Given the description of an element on the screen output the (x, y) to click on. 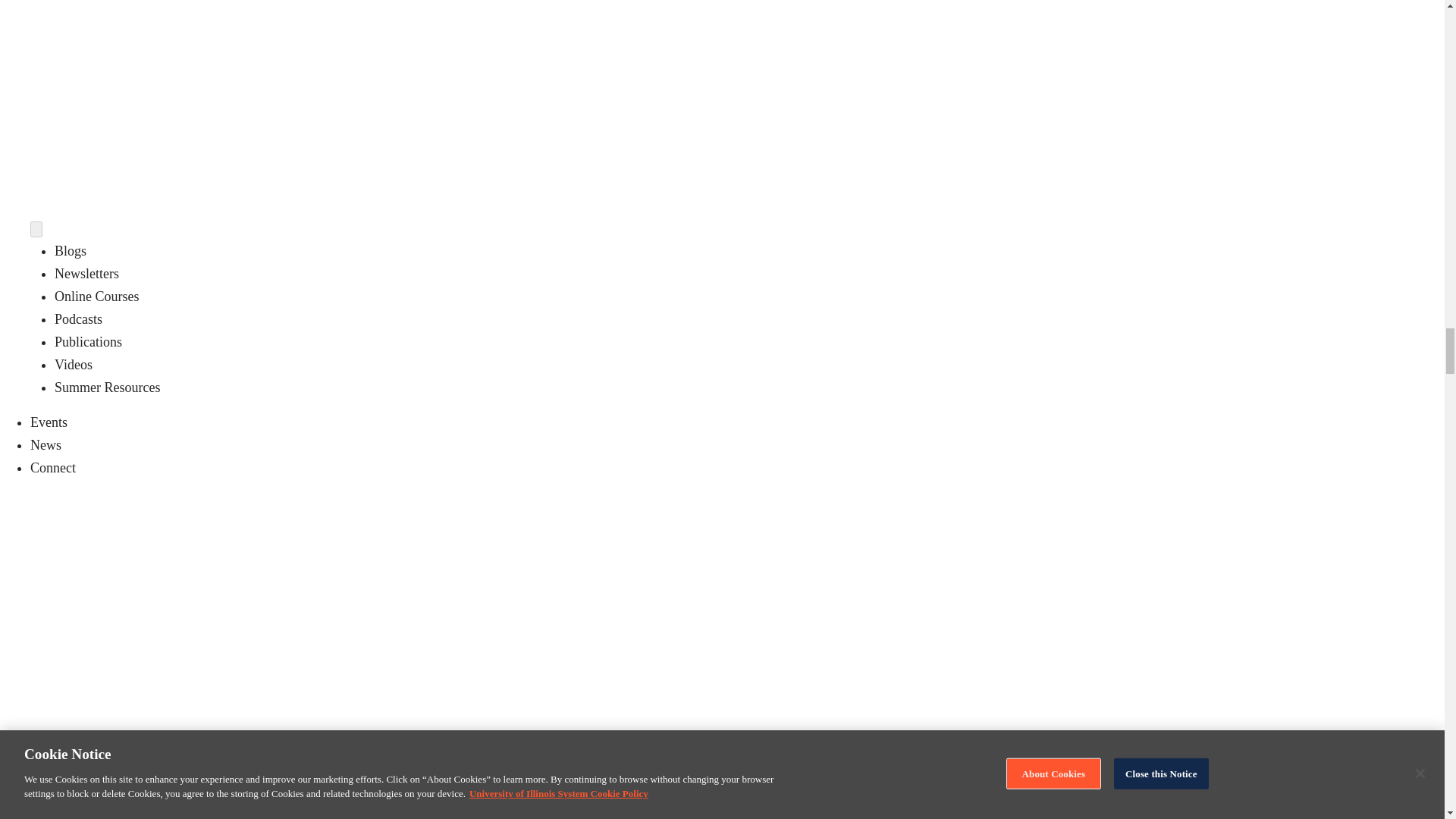
Podcasts (78, 319)
Blogs (70, 250)
Events (48, 421)
News (45, 444)
Newsletters (87, 273)
Summer Resources (107, 387)
Publications (88, 341)
Connect (52, 467)
Online Courses (97, 296)
Videos (74, 364)
